Given the description of an element on the screen output the (x, y) to click on. 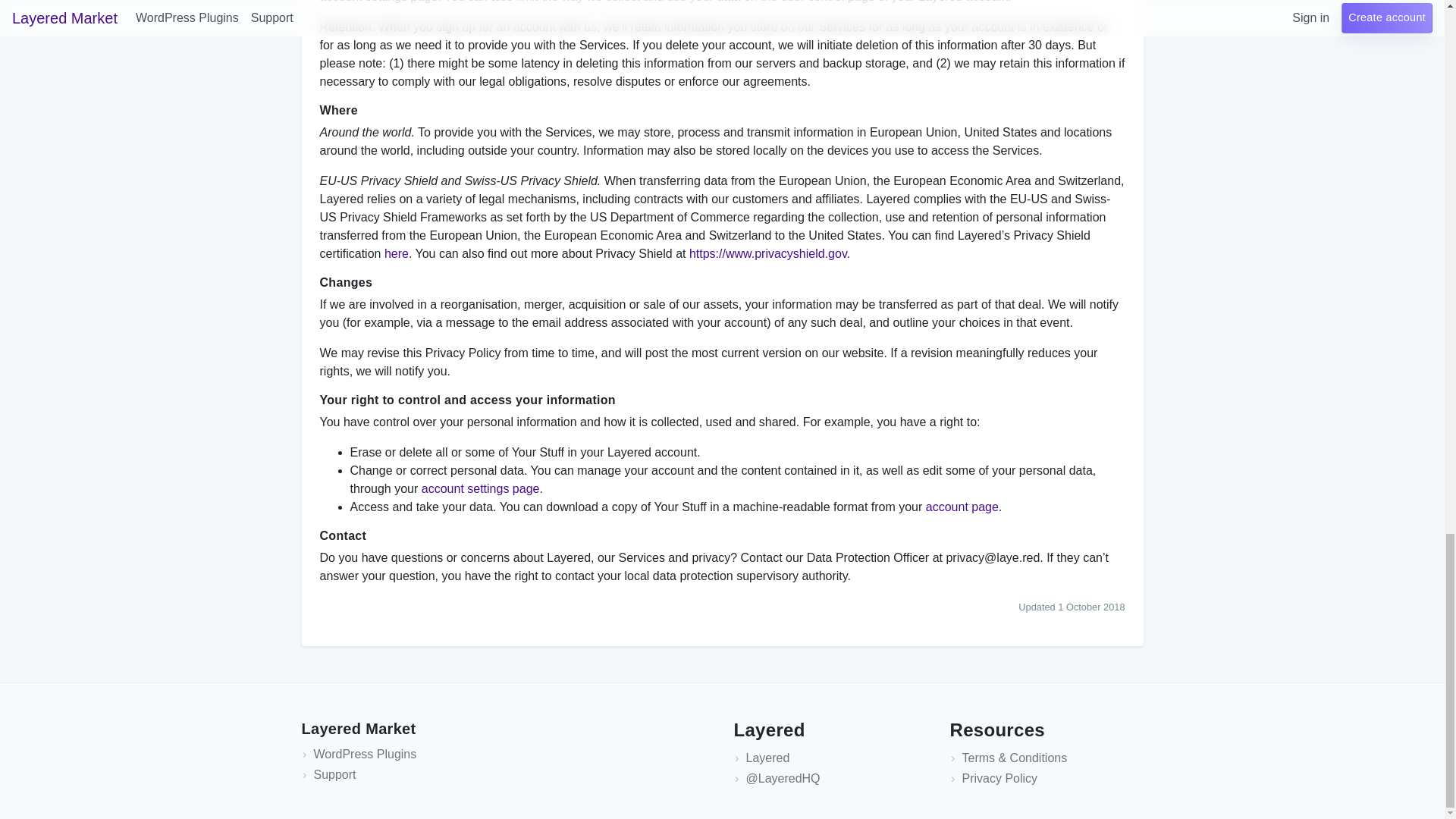
here (396, 253)
account page (962, 506)
WordPress Plugins (365, 754)
Support (335, 775)
account settings page (379, 1)
Privacy Policy (998, 779)
account settings page (481, 488)
Layered (767, 758)
